Given the description of an element on the screen output the (x, y) to click on. 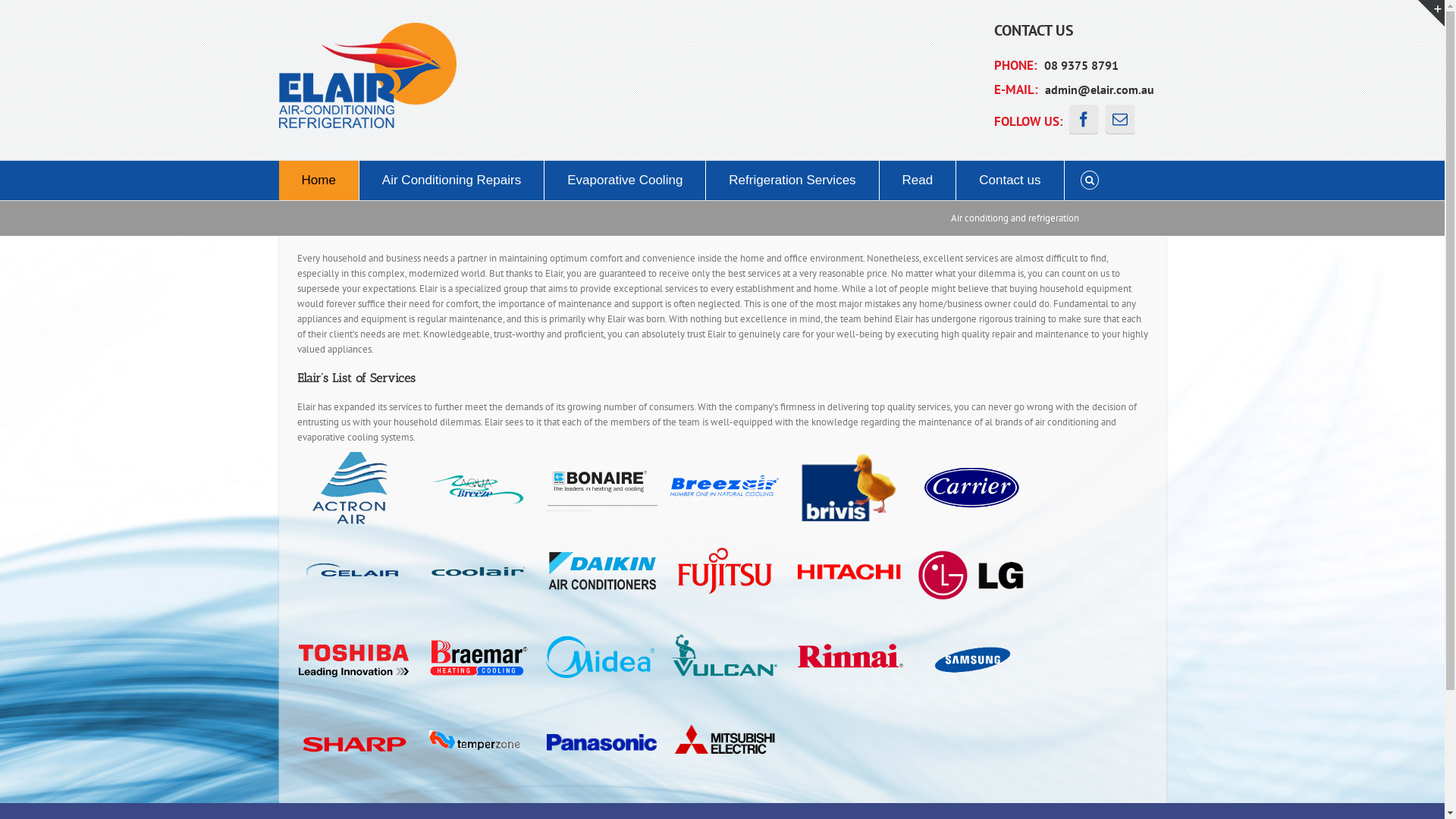
Evaporative Cooling Element type: text (624, 180)
Refrigeration Services Element type: text (792, 180)
E-MAIL: admin@elair.com.au Element type: text (1079, 89)
Facebook Element type: hover (1083, 118)
Contact us Element type: text (1009, 180)
Mail Element type: hover (1119, 118)
Read Element type: text (917, 180)
Home Element type: text (318, 180)
Air Conditioning Repairs Element type: text (451, 180)
